Given the description of an element on the screen output the (x, y) to click on. 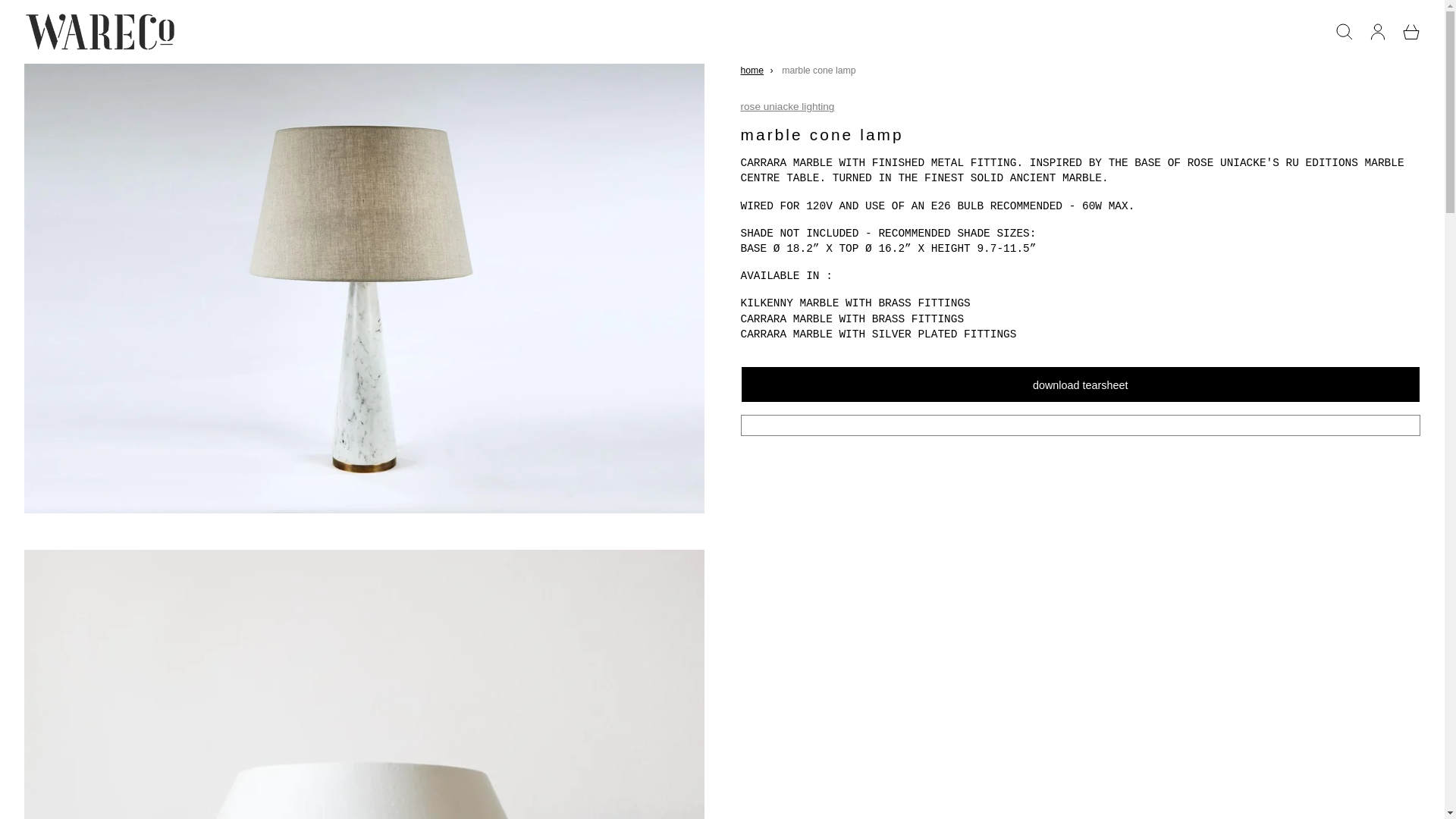
Home (750, 70)
